Given the description of an element on the screen output the (x, y) to click on. 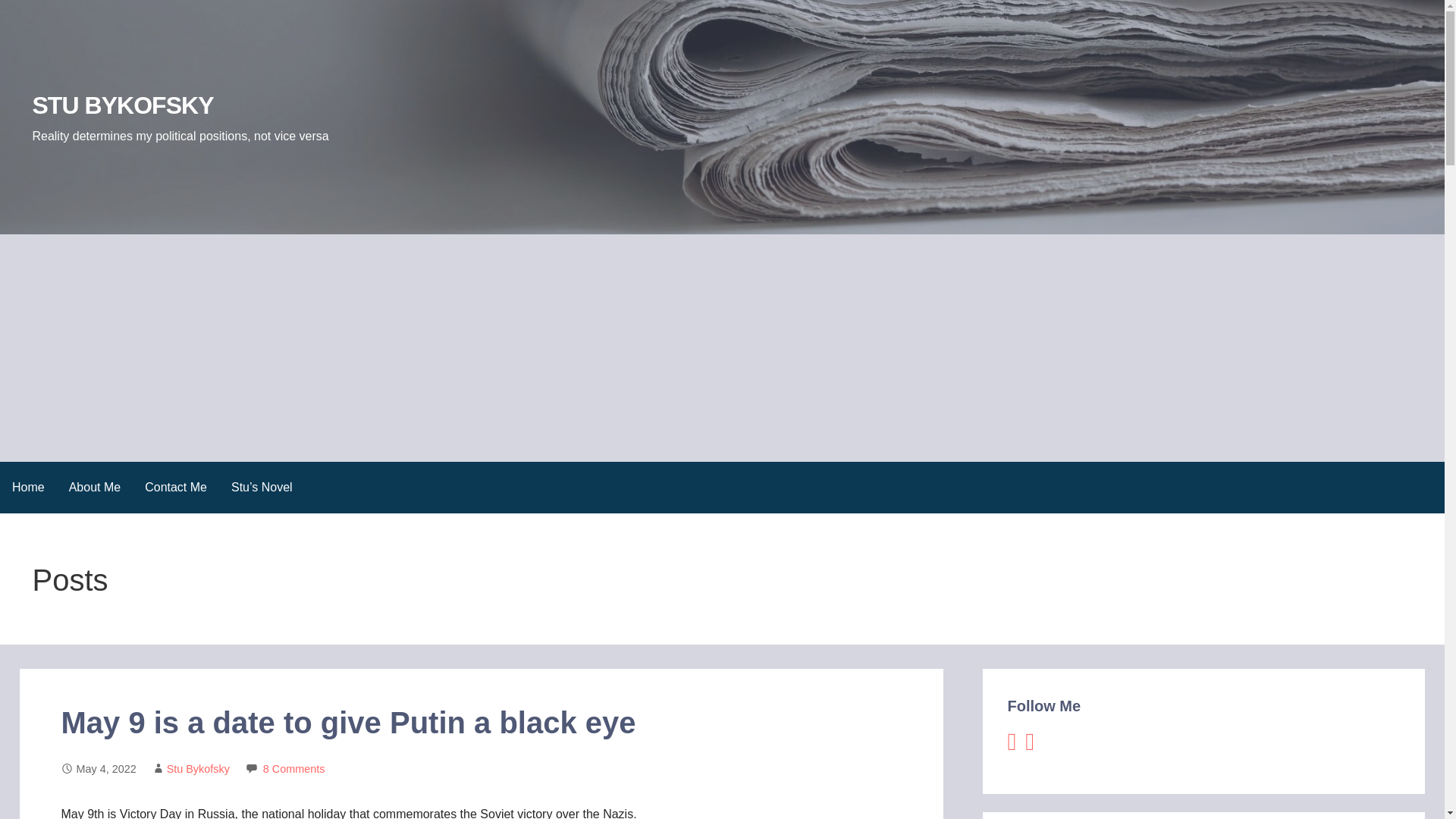
Home (28, 486)
Stu Bykofsky (198, 768)
Posts by Stu Bykofsky (198, 768)
Contact Me (175, 486)
8 Comments (293, 768)
STU BYKOFSKY (122, 104)
About Me (94, 486)
